Given the description of an element on the screen output the (x, y) to click on. 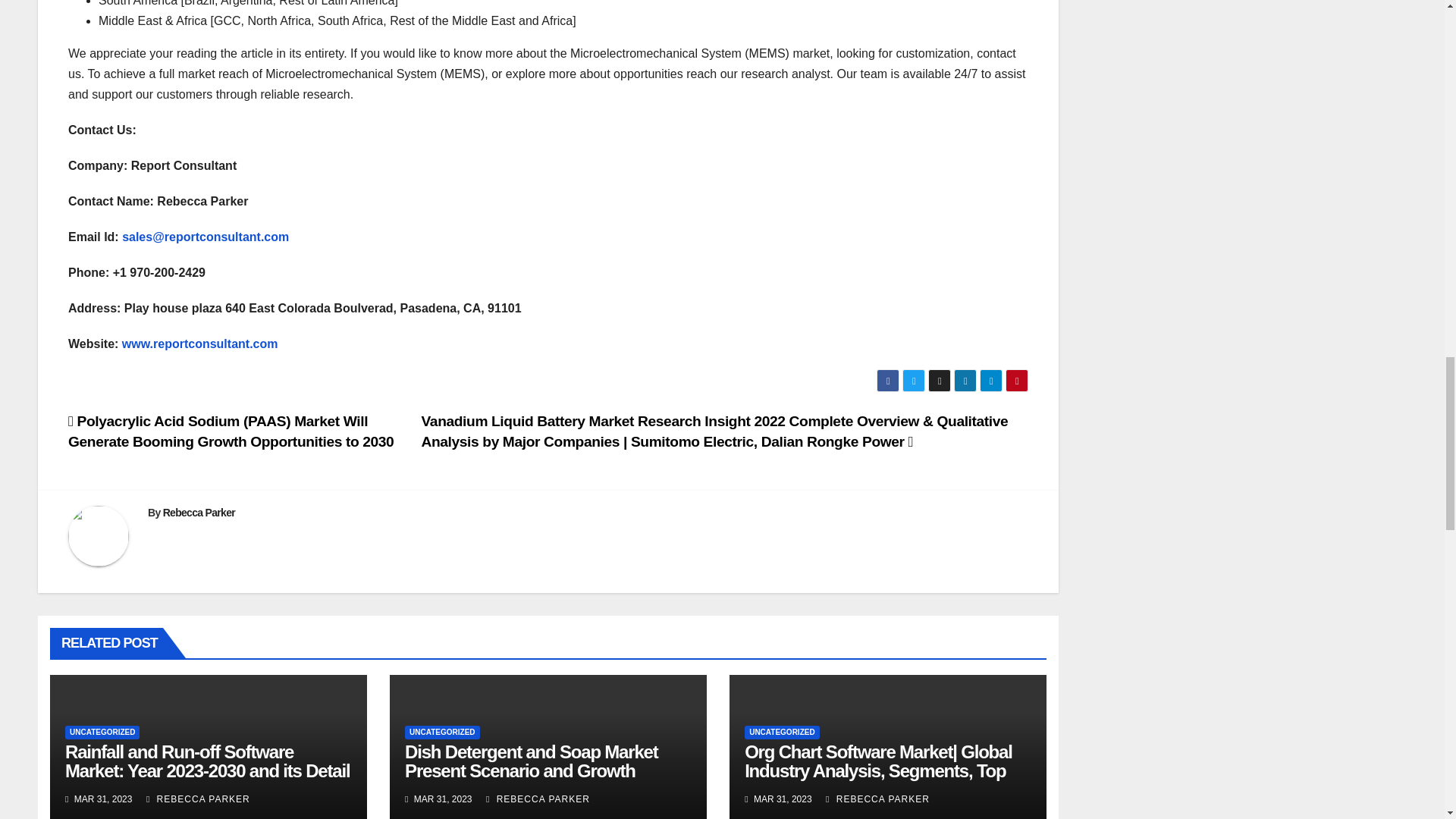
Rebecca Parker (198, 512)
UNCATEGORIZED (102, 732)
www.reportconsultant.com (200, 343)
